Given the description of an element on the screen output the (x, y) to click on. 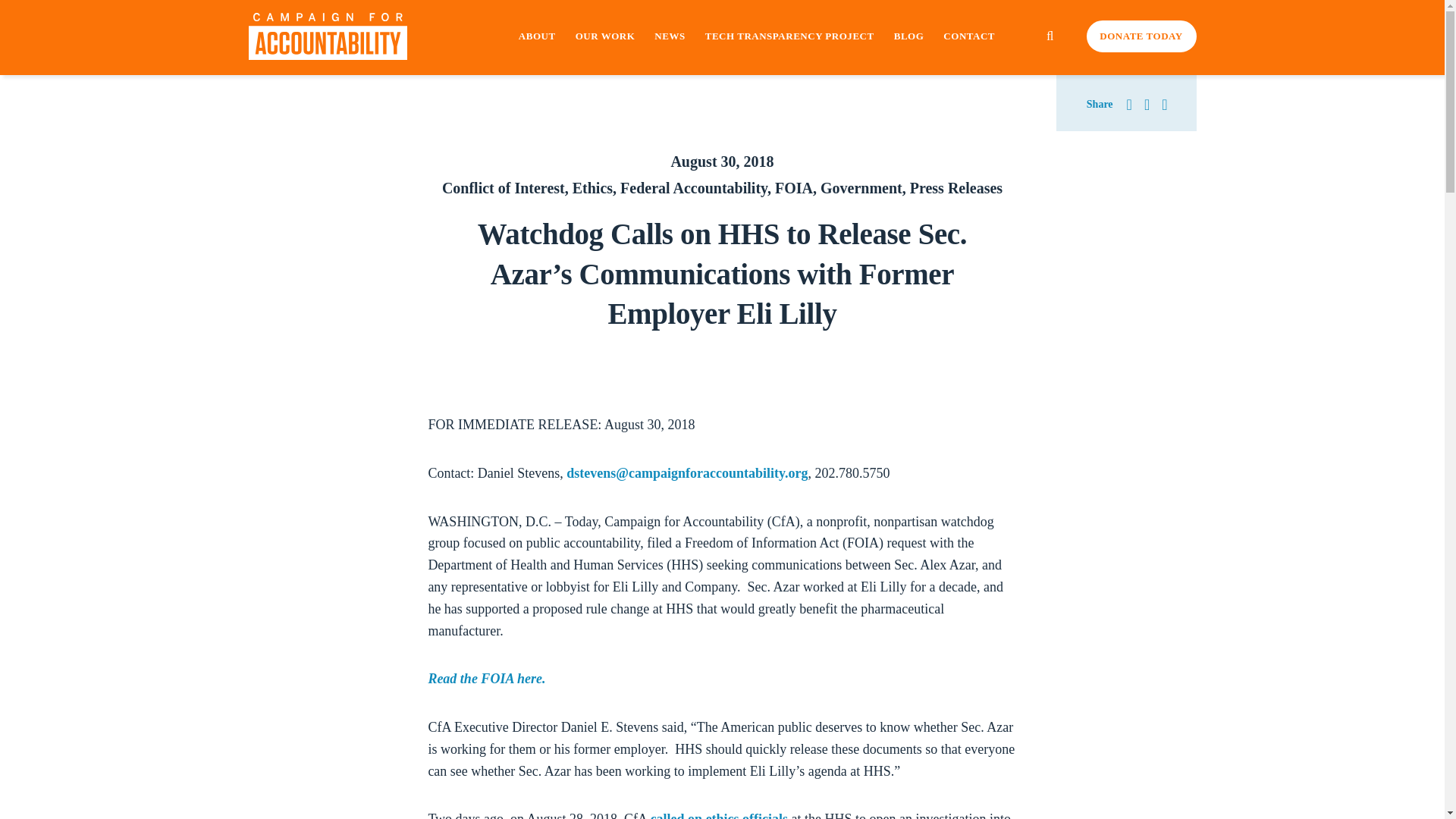
OUR WORK (604, 35)
DONATE TODAY (1140, 36)
TECH TRANSPARENCY PROJECT (789, 35)
ABOUT (537, 35)
NEWS (668, 35)
CONTACT (968, 35)
BLOG (908, 35)
